Given the description of an element on the screen output the (x, y) to click on. 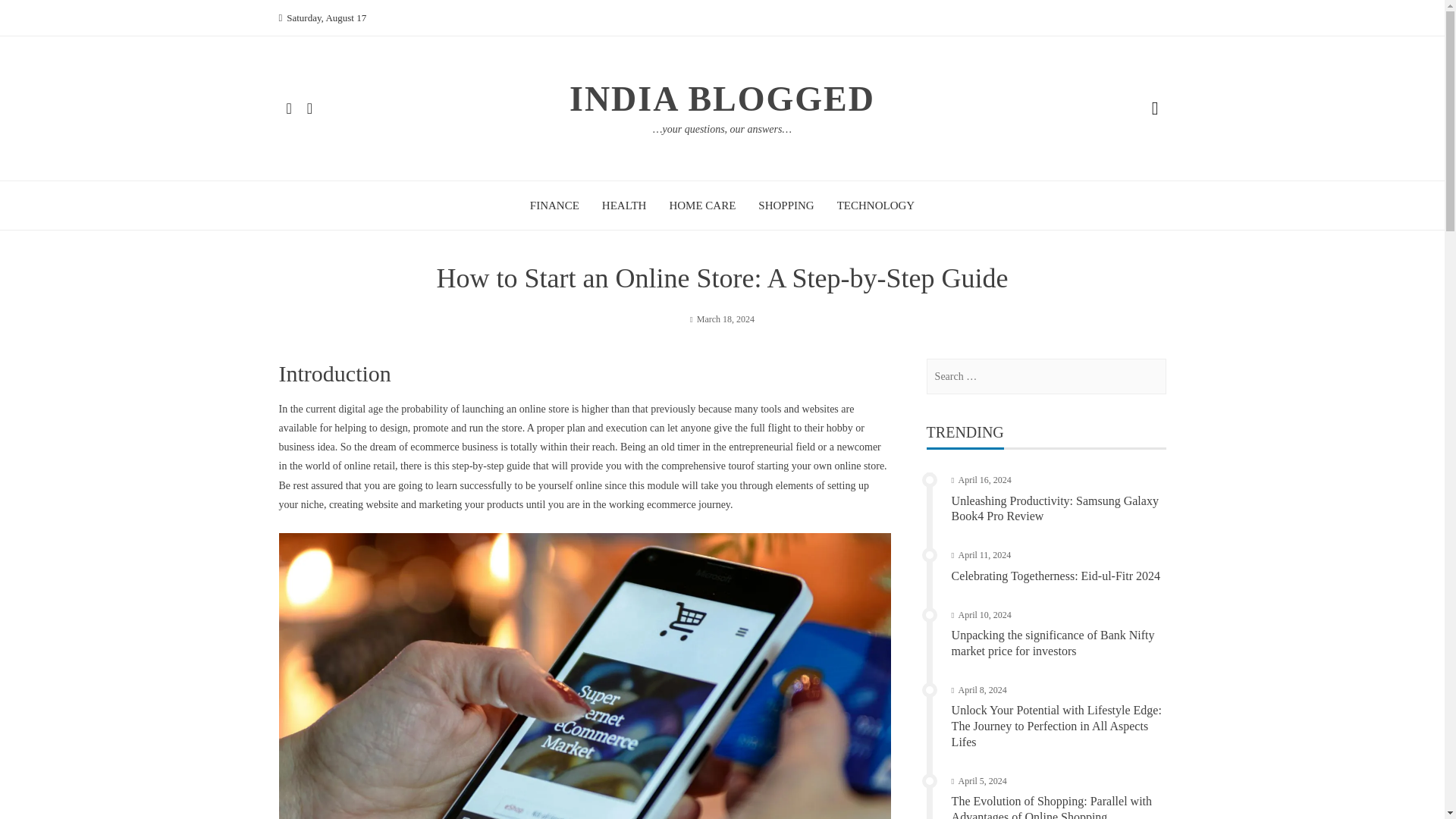
INDIA BLOGGED (722, 98)
Celebrating Togetherness: Eid-ul-Fitr 2024 (1056, 575)
SHOPPING (785, 205)
Unleashing Productivity: Samsung Galaxy Book4 Pro Review (1055, 508)
HOME CARE (701, 205)
HEALTH (624, 205)
TECHNOLOGY (876, 205)
Search (29, 17)
